Given the description of an element on the screen output the (x, y) to click on. 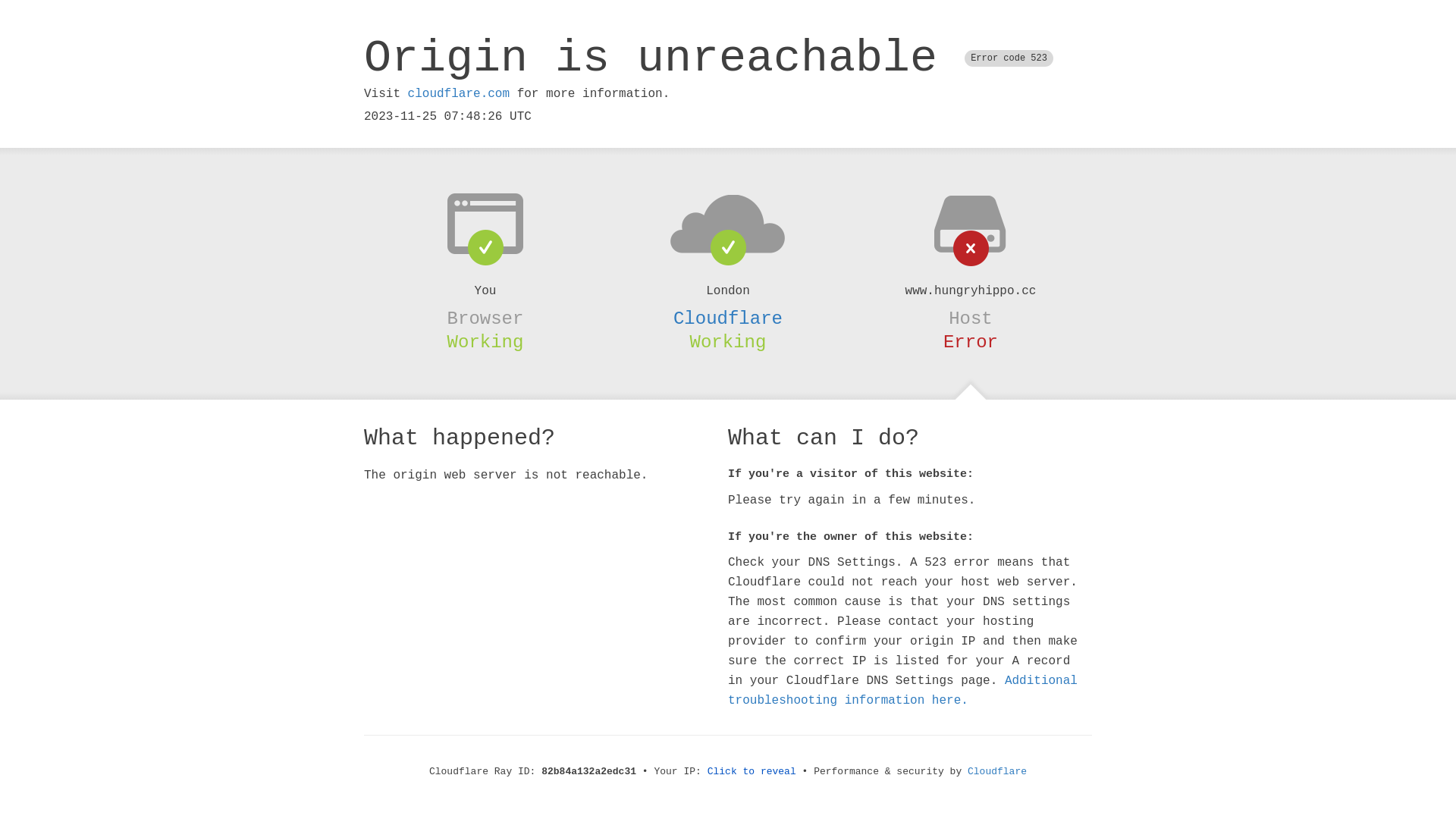
cloudflare.com Element type: text (458, 93)
Additional troubleshooting information here. Element type: text (902, 690)
Cloudflare Element type: text (996, 771)
Click to reveal Element type: text (751, 771)
Cloudflare Element type: text (727, 318)
